Given the description of an element on the screen output the (x, y) to click on. 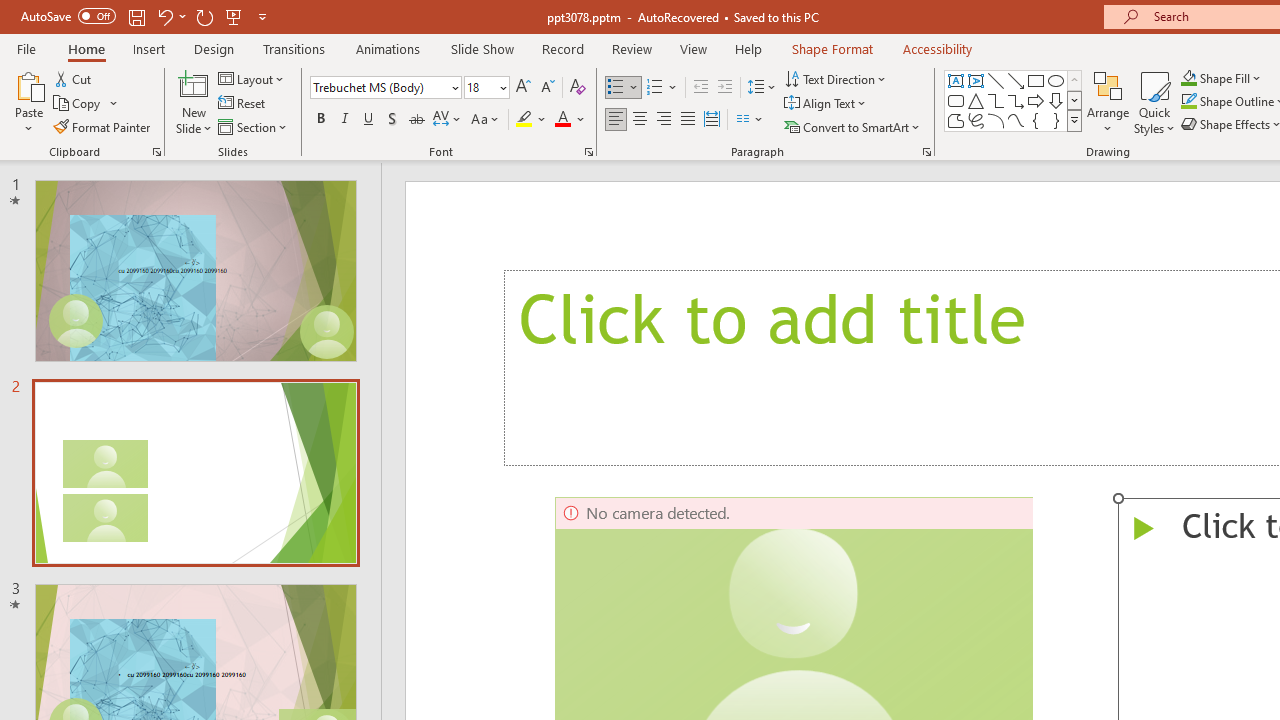
Shape Outline Green, Accent 1 (1188, 101)
